Given the description of an element on the screen output the (x, y) to click on. 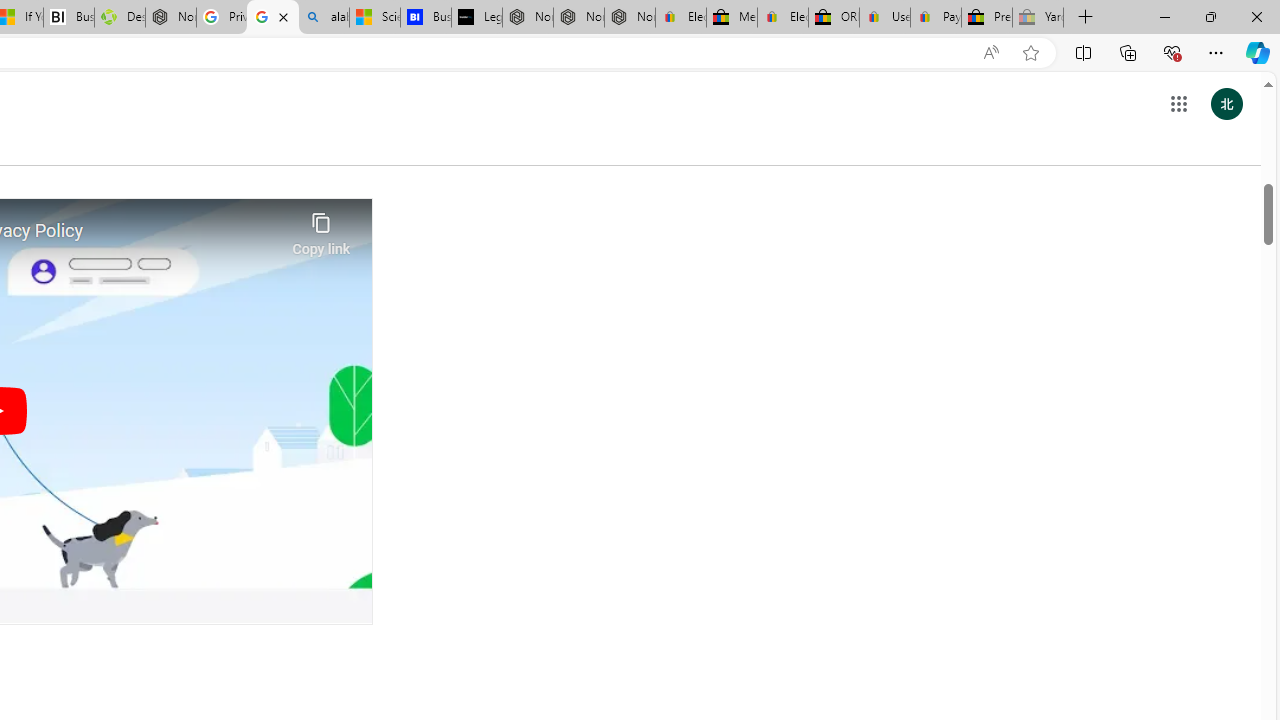
Descarga Driver Updater (119, 17)
User Privacy Notice | eBay (885, 17)
